Given the description of an element on the screen output the (x, y) to click on. 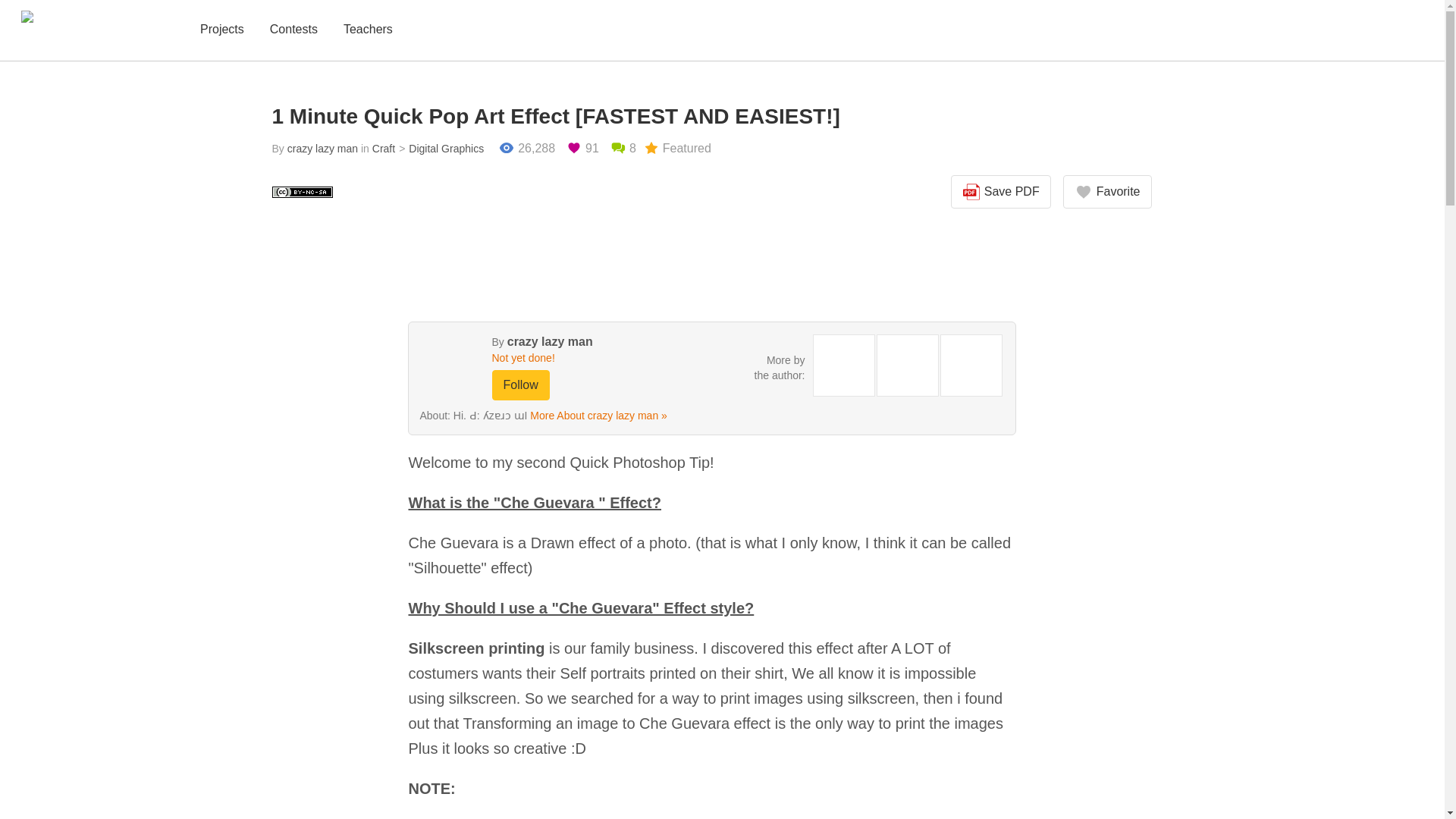
Digital Graphics (438, 148)
crazy lazy man (549, 341)
Projects (221, 30)
Contests (293, 30)
crazy lazy man (322, 148)
Favorite (1106, 191)
8 (623, 148)
Follow (520, 385)
Save PDF (1000, 191)
Not yet done! (570, 358)
Teachers (368, 30)
Craft (383, 148)
